Given the description of an element on the screen output the (x, y) to click on. 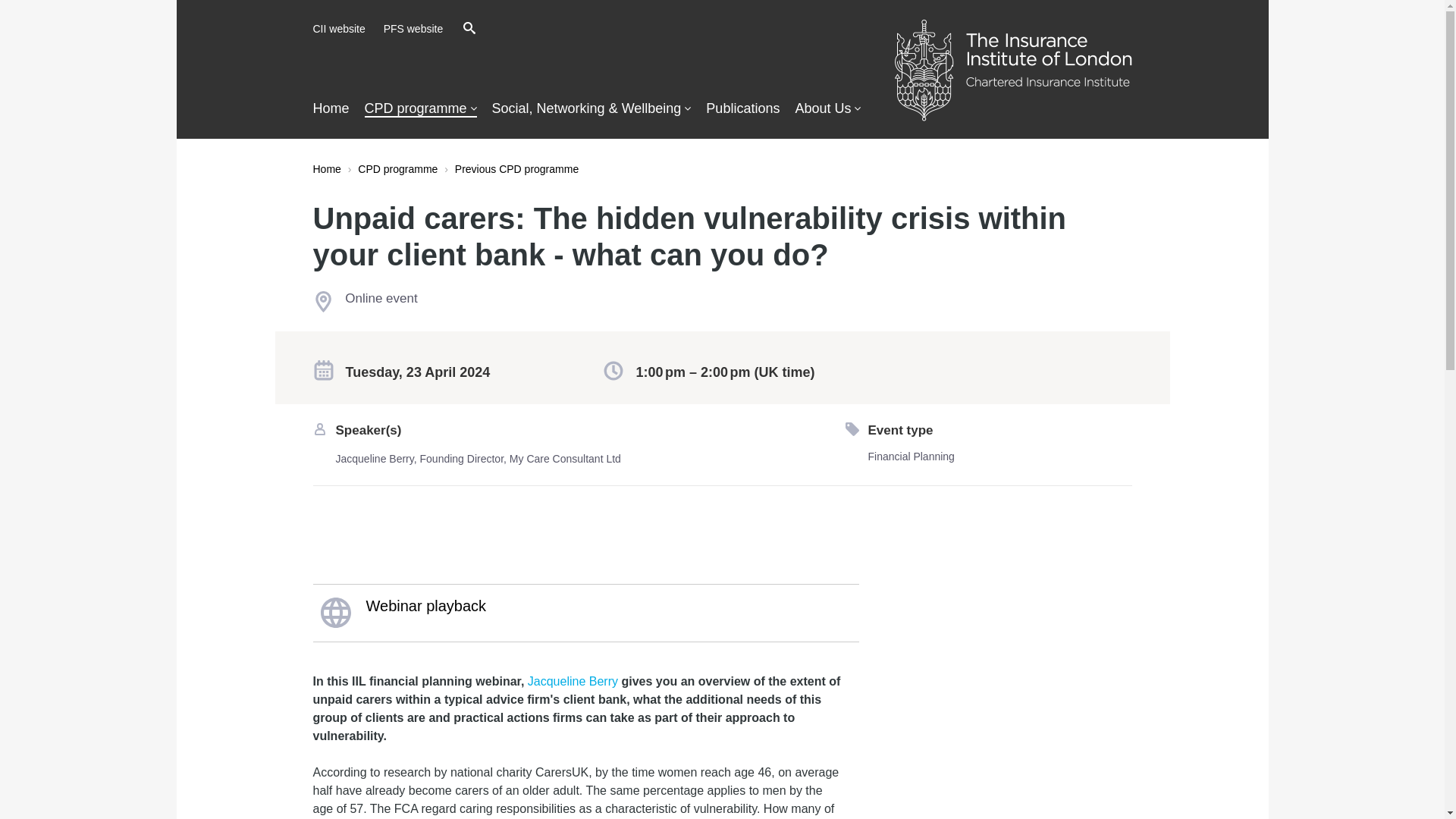
Webinar playback (586, 611)
CII website (339, 28)
Go (667, 28)
About Us (827, 108)
Home (331, 108)
Previous CPD programme (516, 168)
CPD programme (398, 168)
Home (326, 168)
Jacqueline Berry (572, 681)
CPD programme (421, 108)
Publications (742, 108)
PFS website (414, 28)
